Given the description of an element on the screen output the (x, y) to click on. 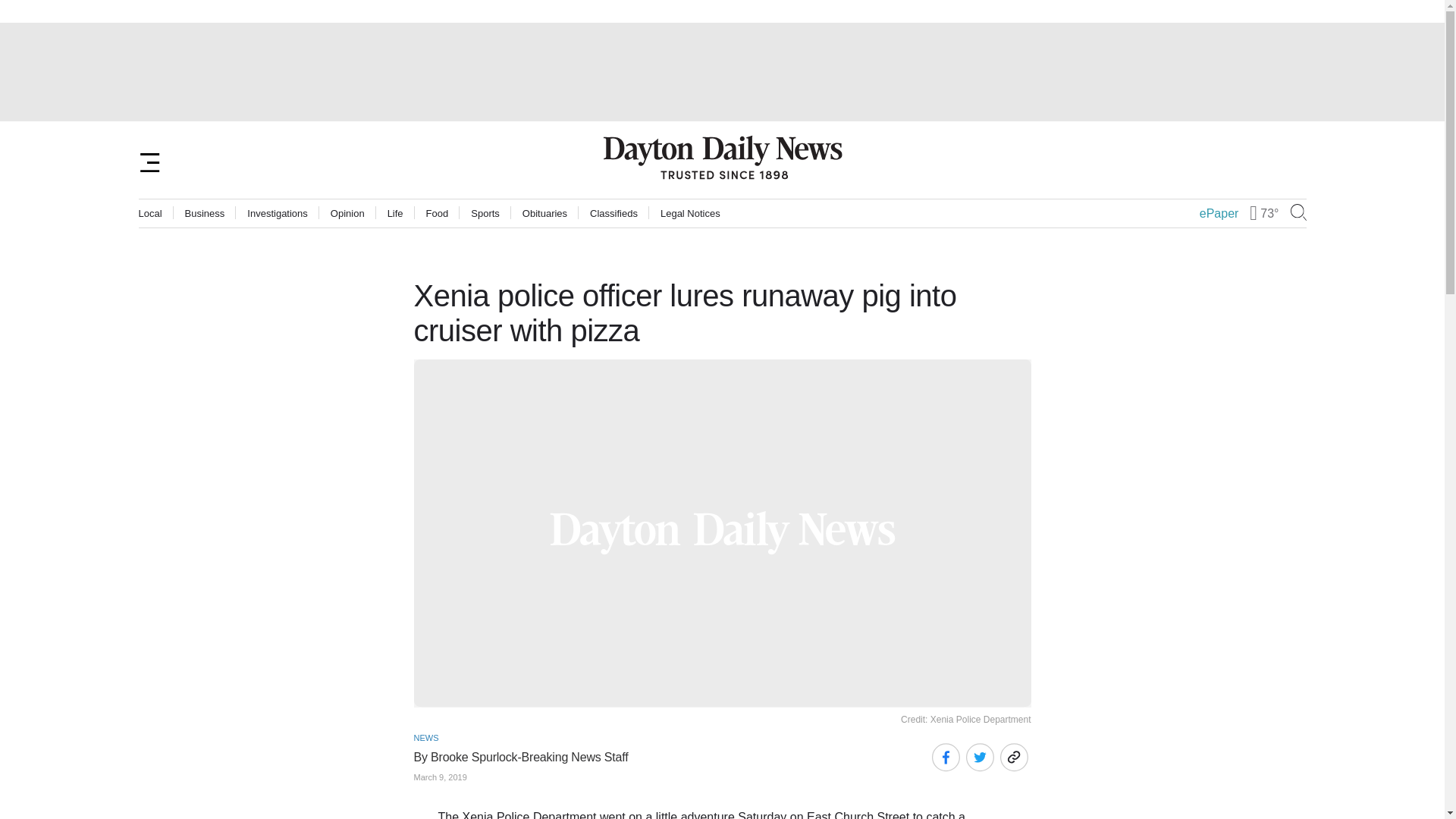
Sports (484, 213)
Obituaries (544, 213)
Classifieds (613, 213)
ePaper (1219, 214)
Opinion (347, 213)
Legal Notices (690, 213)
Business (204, 213)
Life (395, 213)
Food (437, 213)
